Given the description of an element on the screen output the (x, y) to click on. 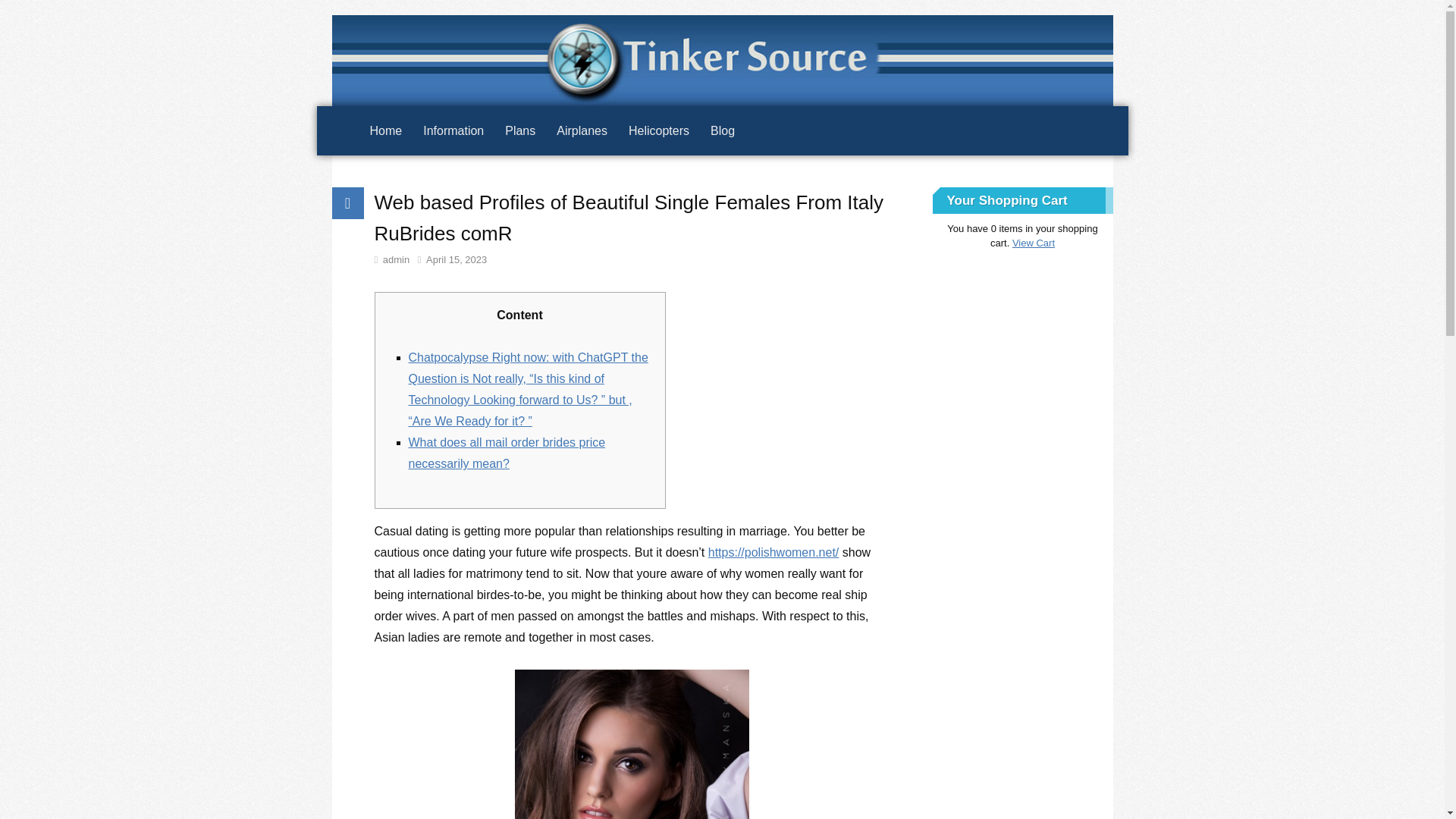
Information (453, 130)
Helicopters (658, 130)
Home (386, 130)
View Cart (1032, 242)
Airplanes (581, 130)
2023-04-15 (451, 259)
Plans (520, 130)
What does all mail order brides price necessarily mean? (506, 452)
Blog (722, 130)
